Given the description of an element on the screen output the (x, y) to click on. 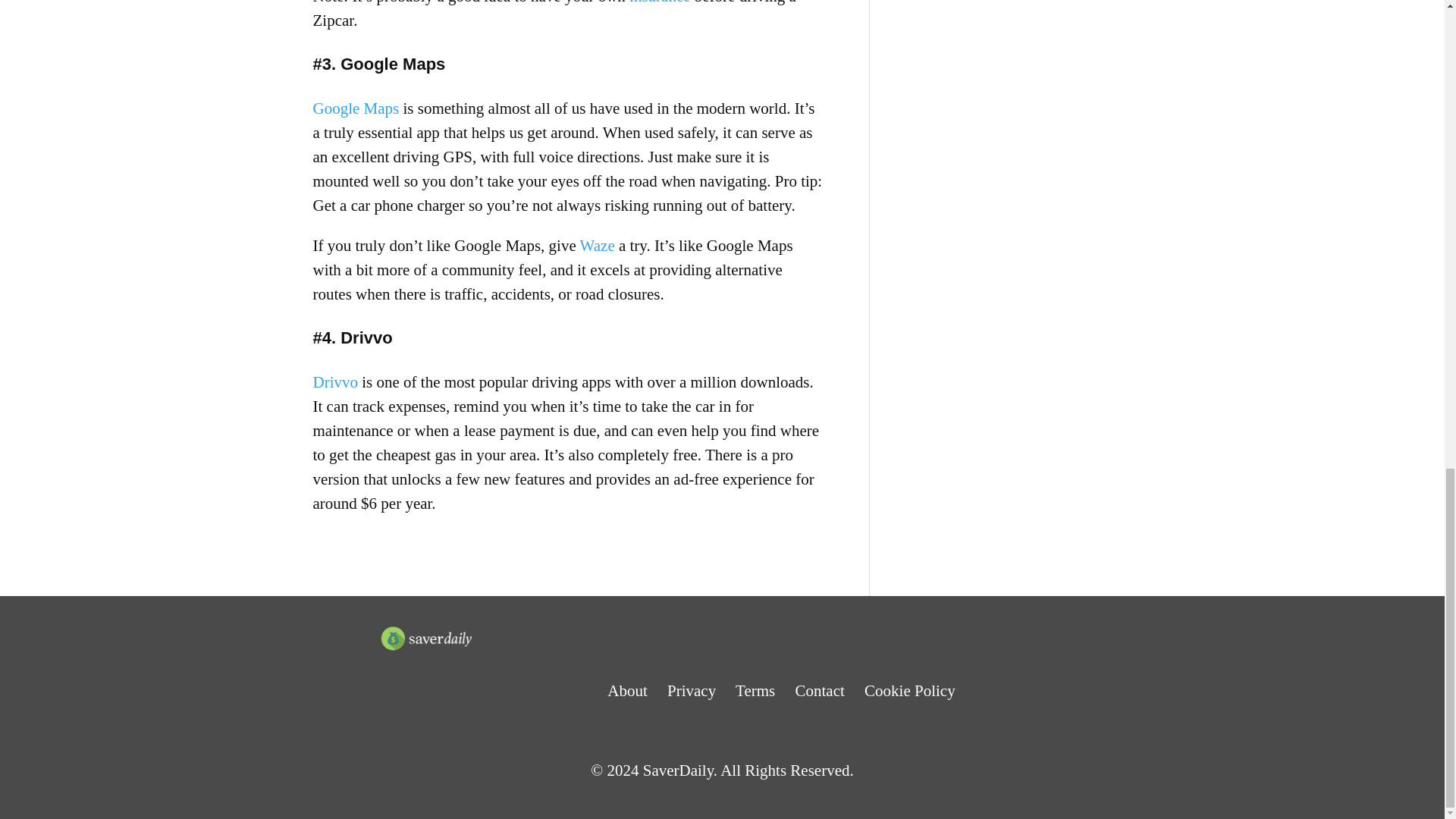
Drivvo (335, 382)
Google Maps (355, 108)
saverdailyn2 (427, 638)
Waze (596, 245)
About (627, 690)
insurance (659, 2)
Privacy (691, 690)
Terms (754, 690)
Contact (819, 690)
Cookie Policy (909, 690)
